Given the description of an element on the screen output the (x, y) to click on. 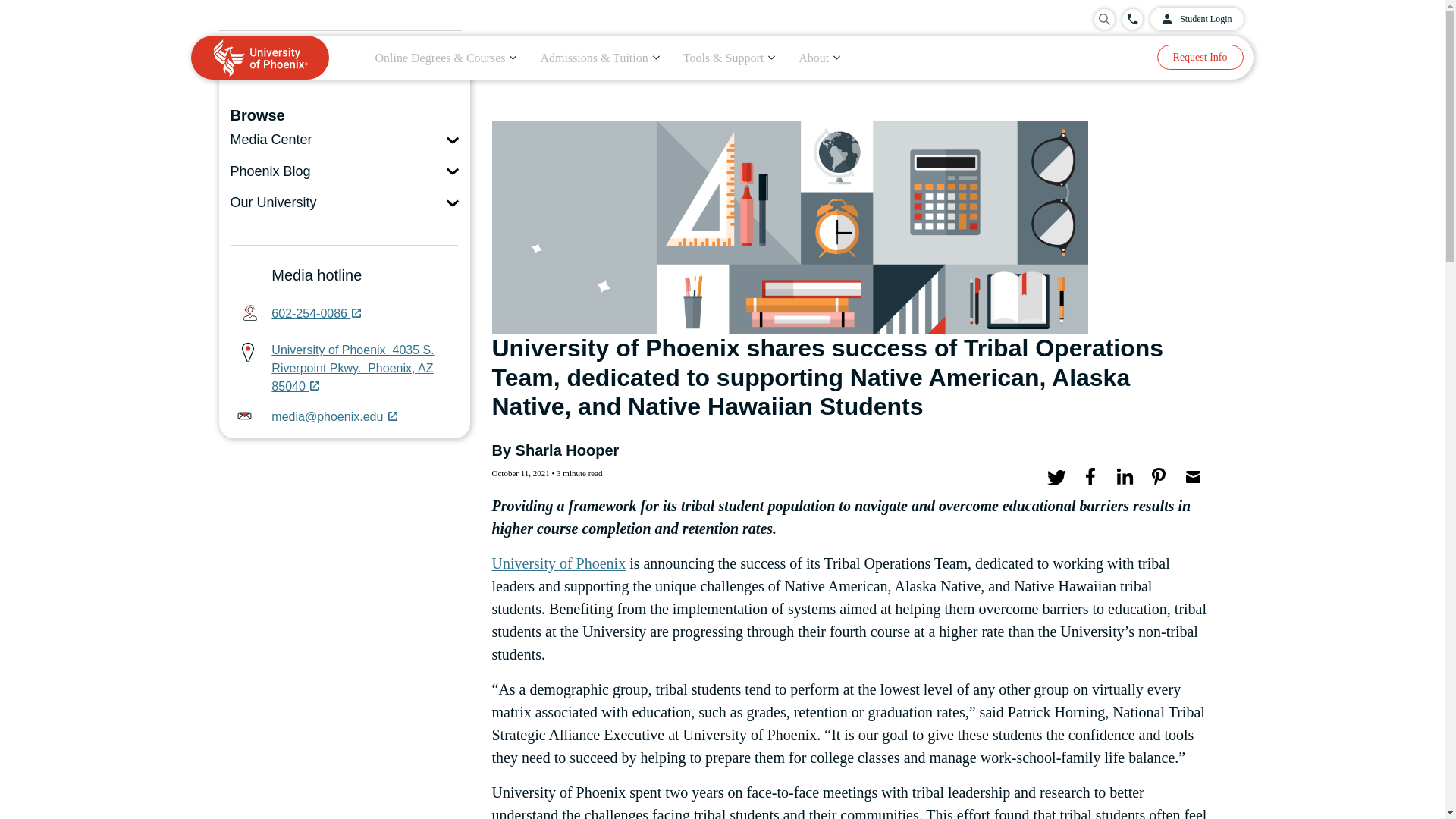
Request Info (1200, 57)
Share on Pinterest, opens in current window (1157, 476)
Share on Facebook, opens in a new window (1090, 476)
Share by Email, opens in a new window (1191, 476)
Share on LinkedIn, opens in a new window (1123, 476)
Share by Email (1191, 477)
About (819, 57)
Student Login (1196, 18)
Share on Twitter, opens in a new window (1055, 476)
